Given the description of an element on the screen output the (x, y) to click on. 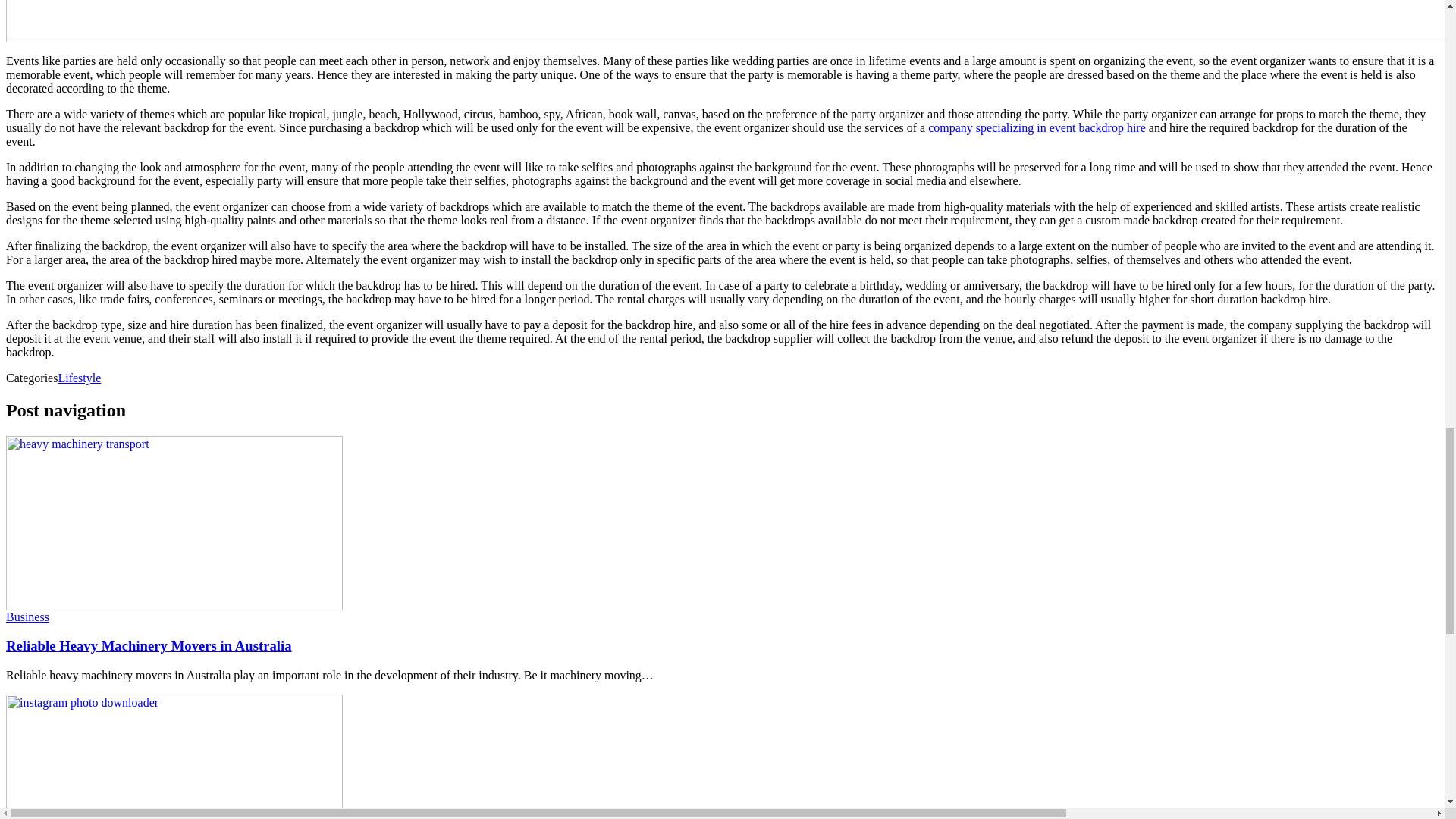
Lifestyle (79, 377)
Business (27, 616)
Reliable Heavy Machinery Movers in Australia (148, 645)
Reliable Heavy Machinery Movers in Australia (173, 605)
company specializing in event backdrop hire (1036, 127)
